Given the description of an element on the screen output the (x, y) to click on. 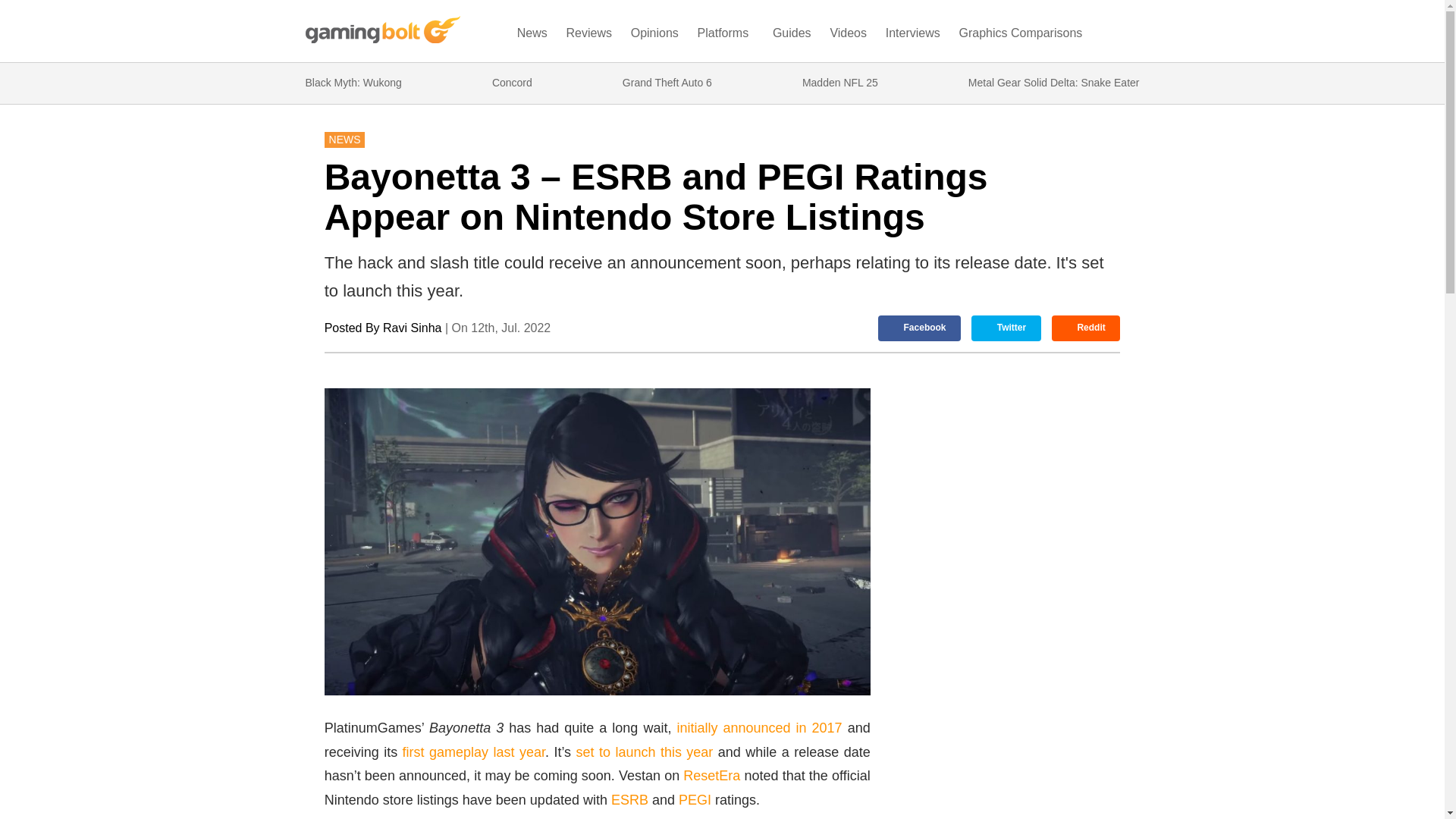
Black Myth: Wukong (352, 82)
Facebook (918, 328)
Interviews (912, 36)
Madden NFL 25 (839, 82)
Graphics Comparisons (1020, 36)
Metal Gear Solid Delta: Snake Eater (1054, 82)
Opinions (654, 36)
Videos (847, 36)
Guides (790, 36)
Concord (512, 82)
Reviews (588, 36)
Reddit (1086, 328)
Ravi Sinha (411, 327)
Platforms (725, 36)
News (532, 36)
